Given the description of an element on the screen output the (x, y) to click on. 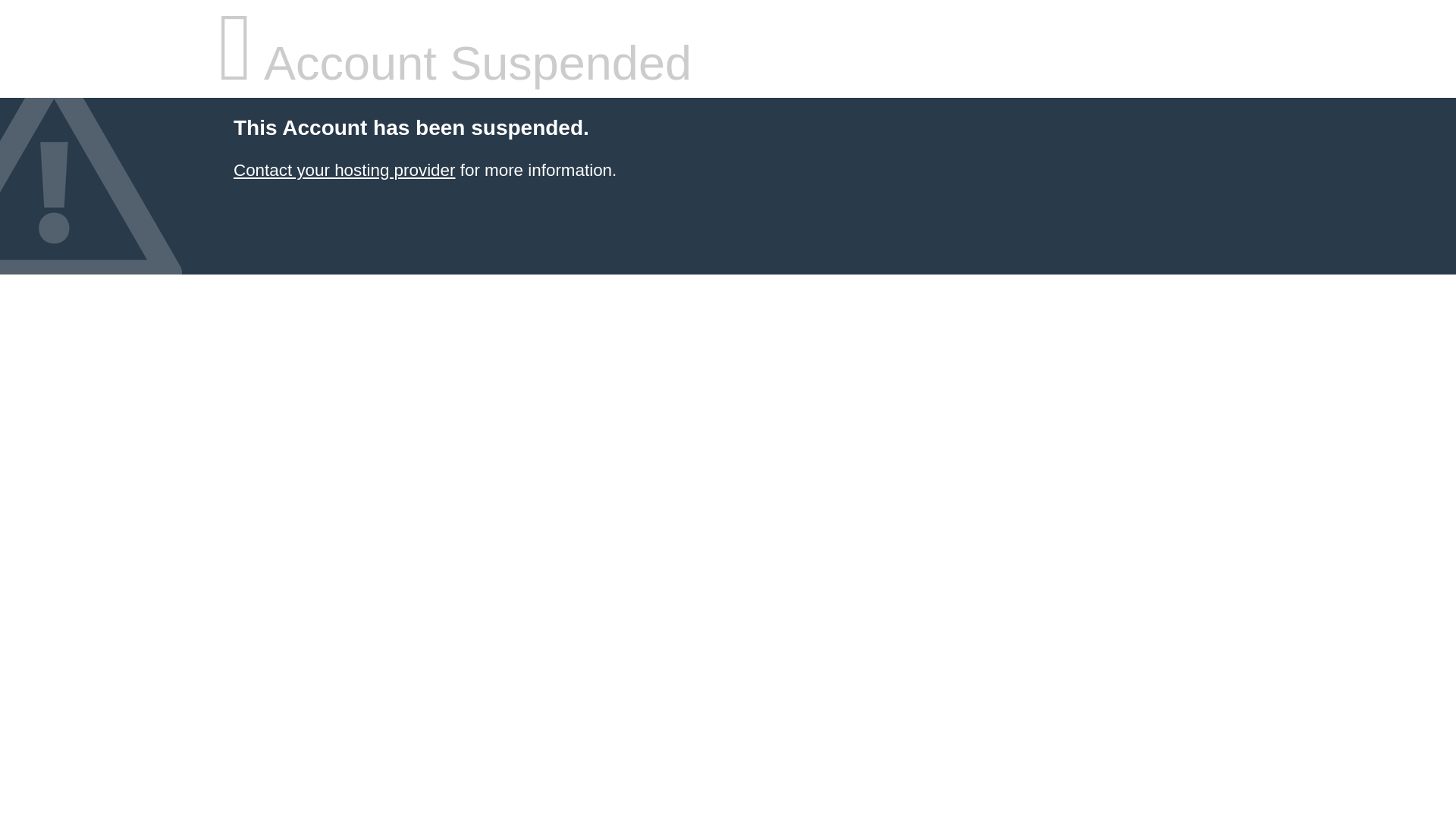
Contact your hosting provider (343, 169)
